Given the description of an element on the screen output the (x, y) to click on. 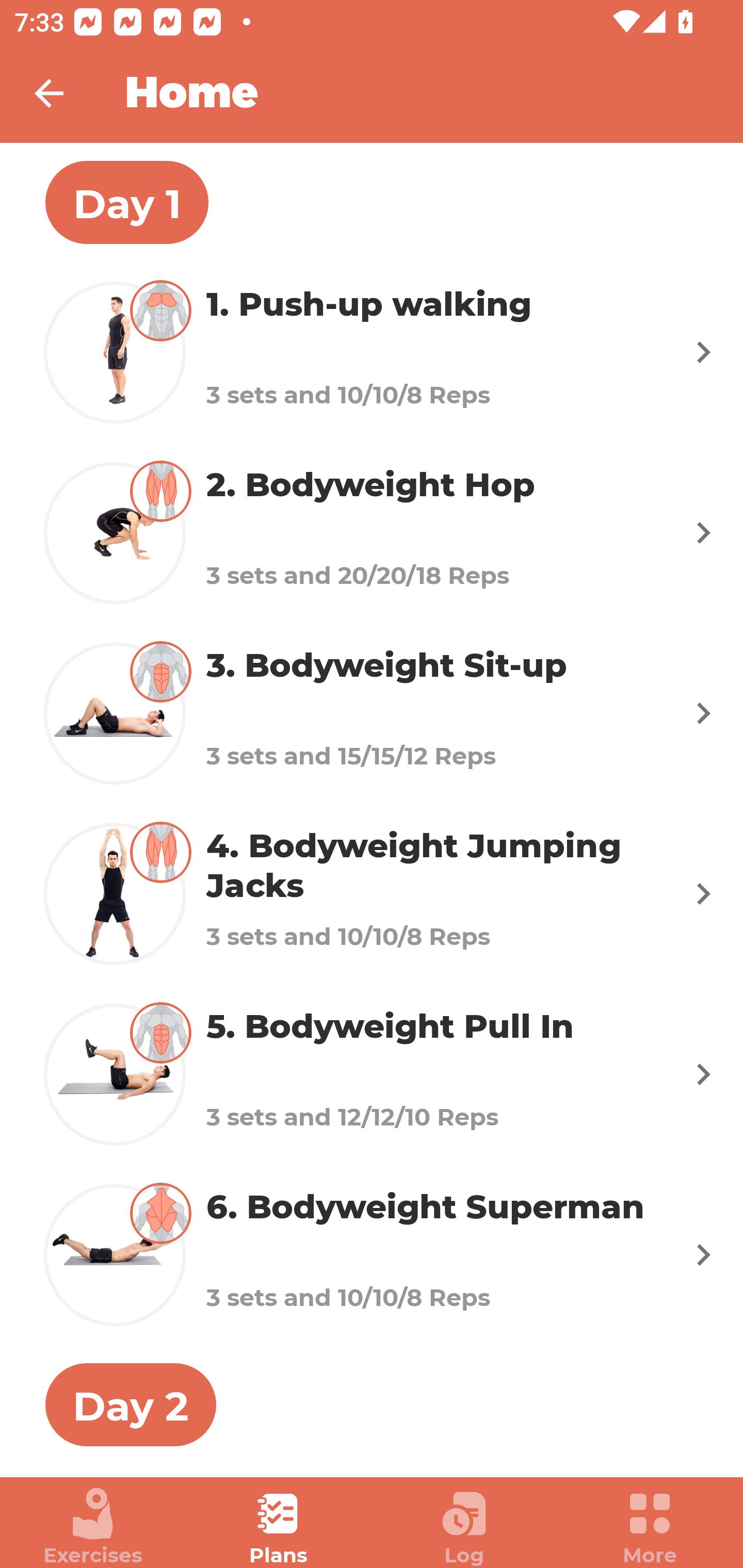
Back (62, 92)
1. Push-up walking 3 sets and 10/10/8 Reps (371, 351)
2. Bodyweight Hop 3 sets and 20/20/18 Reps (371, 532)
3. Bodyweight Sit-up 3 sets and 15/15/12 Reps (371, 712)
5. Bodyweight Pull In 3 sets and 12/12/10 Reps (371, 1074)
6. Bodyweight Superman 3 sets and 10/10/8 Reps (371, 1255)
Exercises (92, 1527)
Plans (278, 1527)
Log (464, 1527)
More (650, 1527)
